Given the description of an element on the screen output the (x, y) to click on. 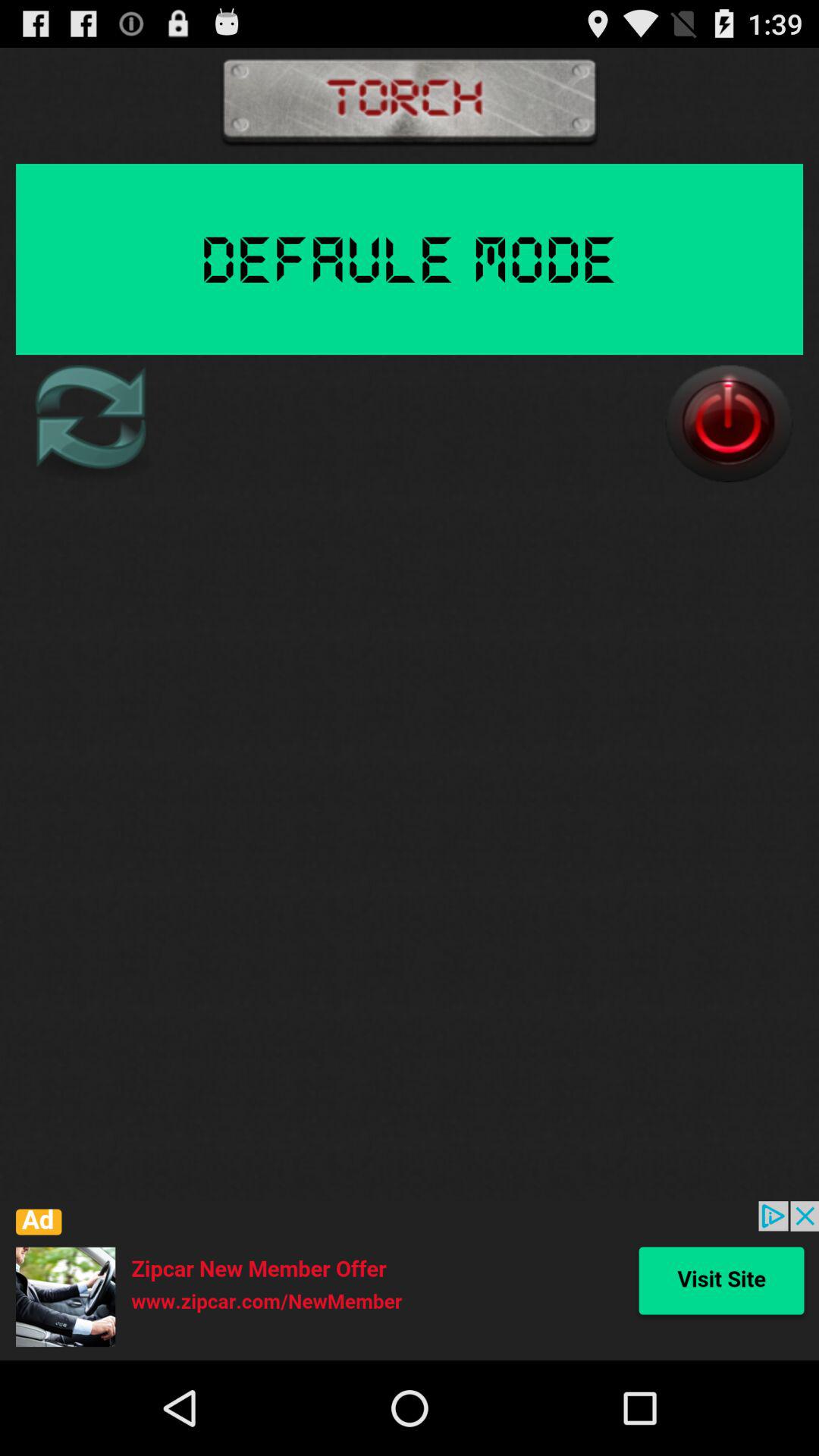
power off (728, 423)
